Given the description of an element on the screen output the (x, y) to click on. 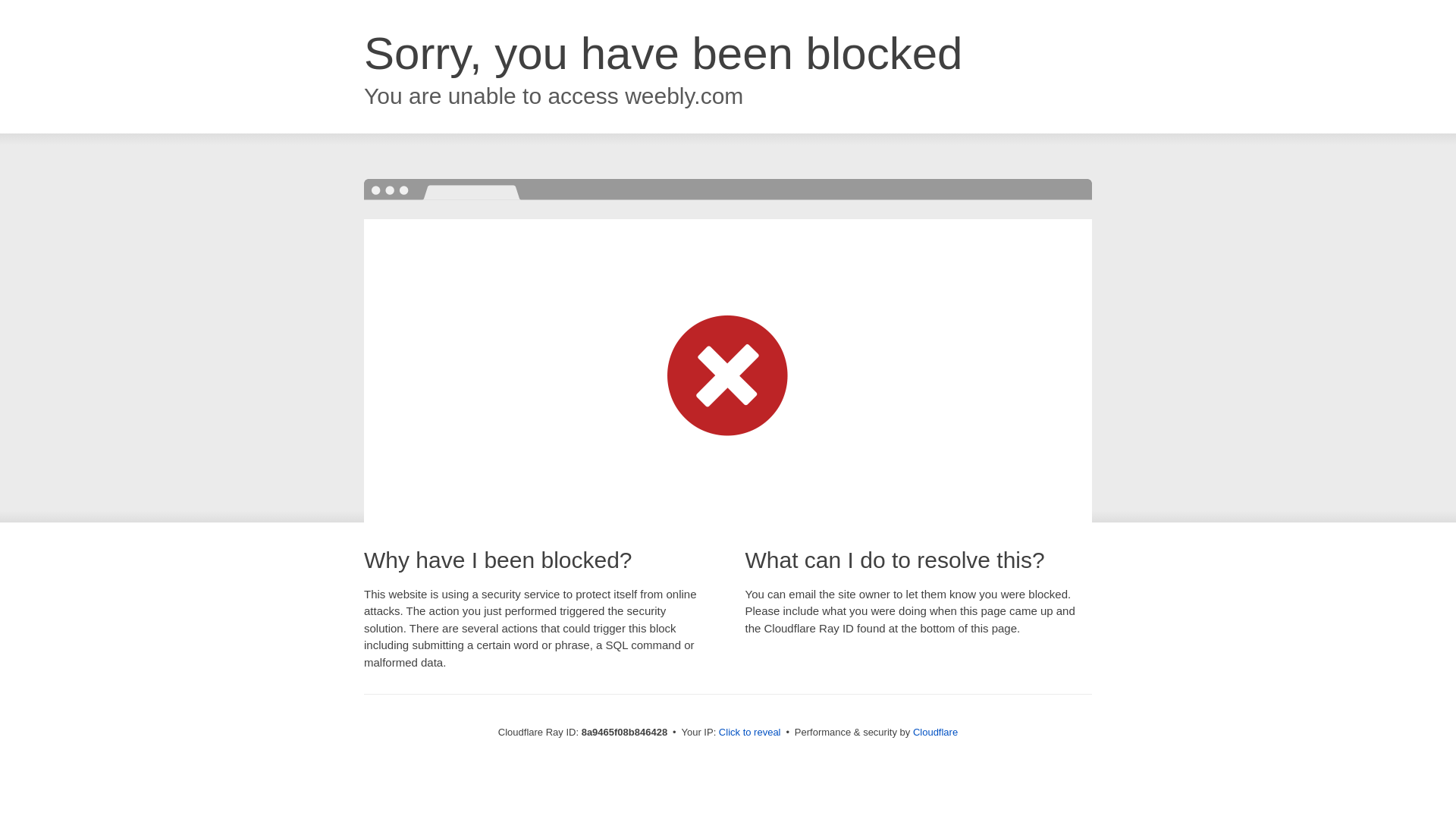
Click to reveal (749, 732)
Cloudflare (935, 731)
